Given the description of an element on the screen output the (x, y) to click on. 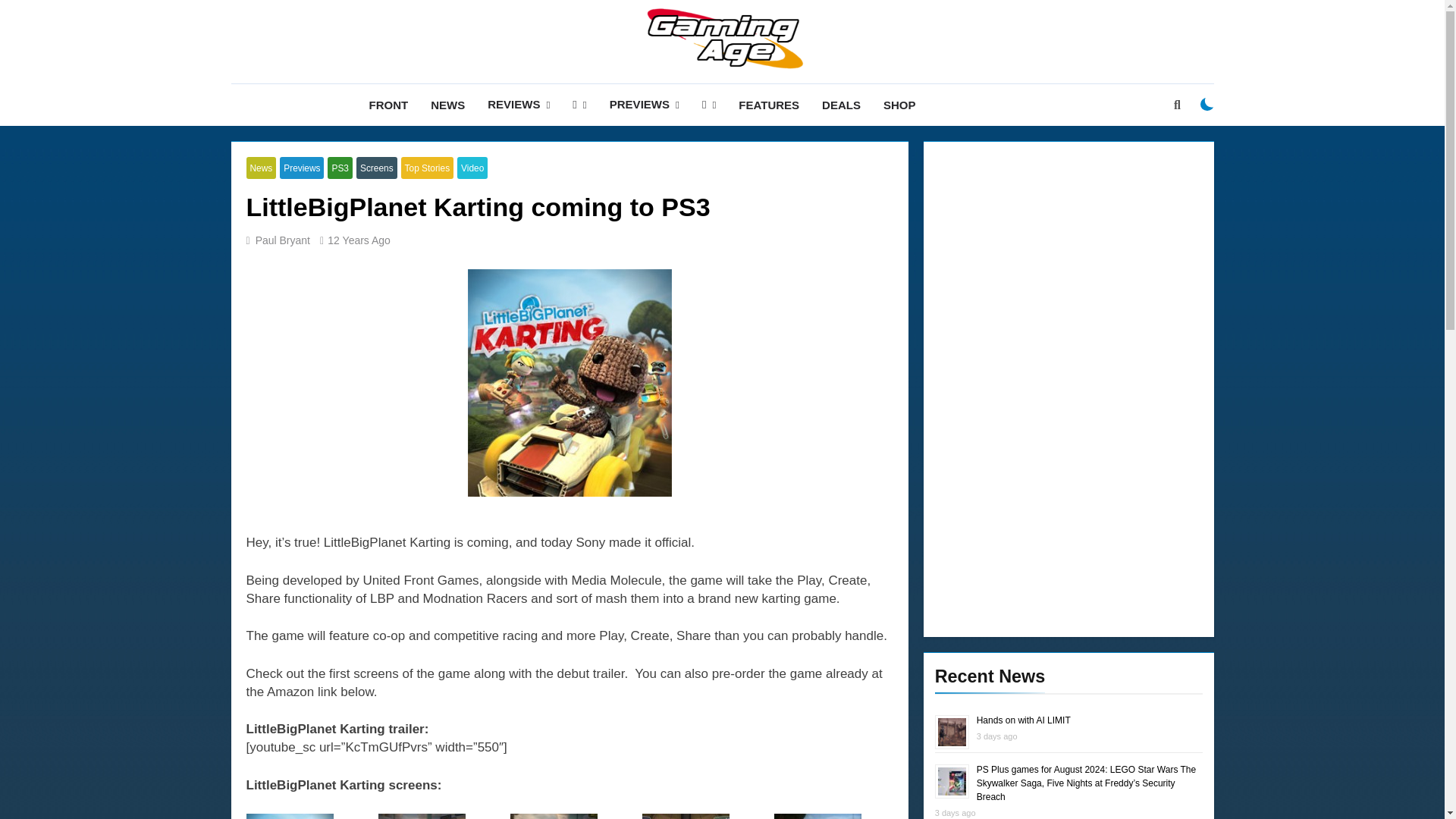
Gaming Age (571, 92)
FRONT (389, 105)
PREVIEWS (644, 105)
DEALS (841, 105)
on (1206, 104)
SHOP (899, 105)
NEWS (447, 105)
FEATURES (768, 105)
REVIEWS (518, 105)
